Given the description of an element on the screen output the (x, y) to click on. 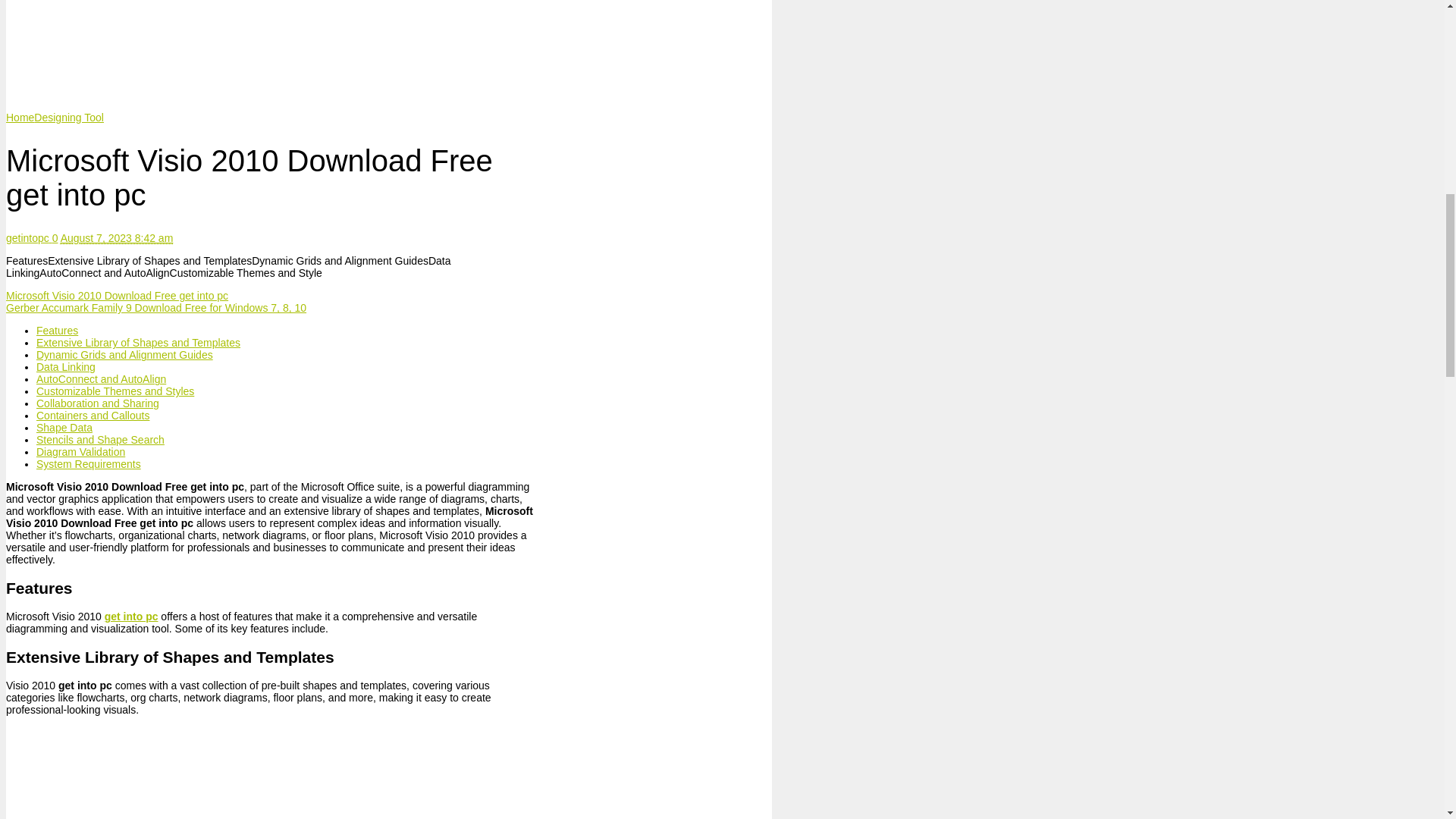
Data Linking (66, 367)
Microsoft Visio 2010 Download Free get into pc (490, 49)
getintopc (28, 237)
get into pc (131, 616)
Microsoft Visio 2010 Download Free get into pc (116, 295)
Shape Data (64, 427)
System Requirements (88, 463)
Diagram Validation (80, 451)
Stencils and Shape Search (100, 439)
Microsoft Visio 2010 Download Free get into pc (116, 295)
